Given the description of an element on the screen output the (x, y) to click on. 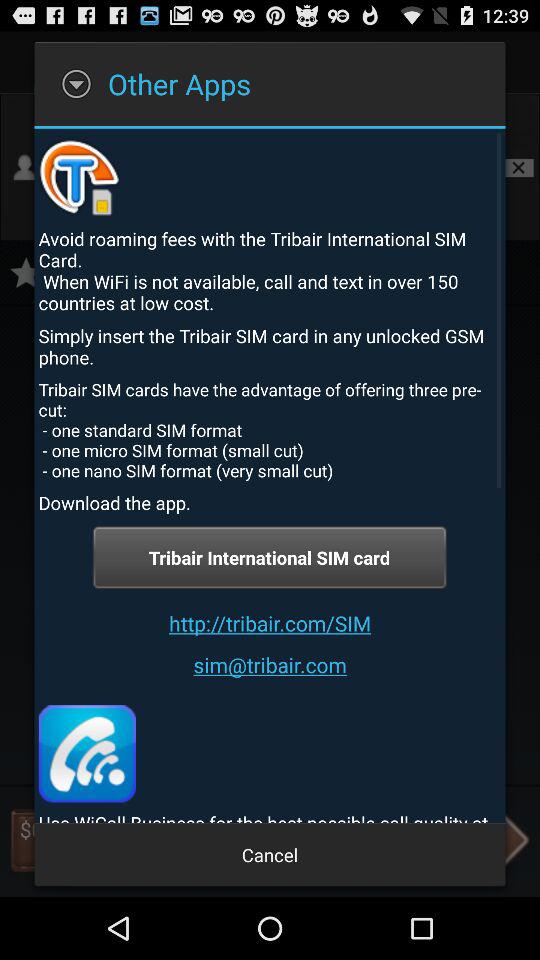
call (86, 753)
